Given the description of an element on the screen output the (x, y) to click on. 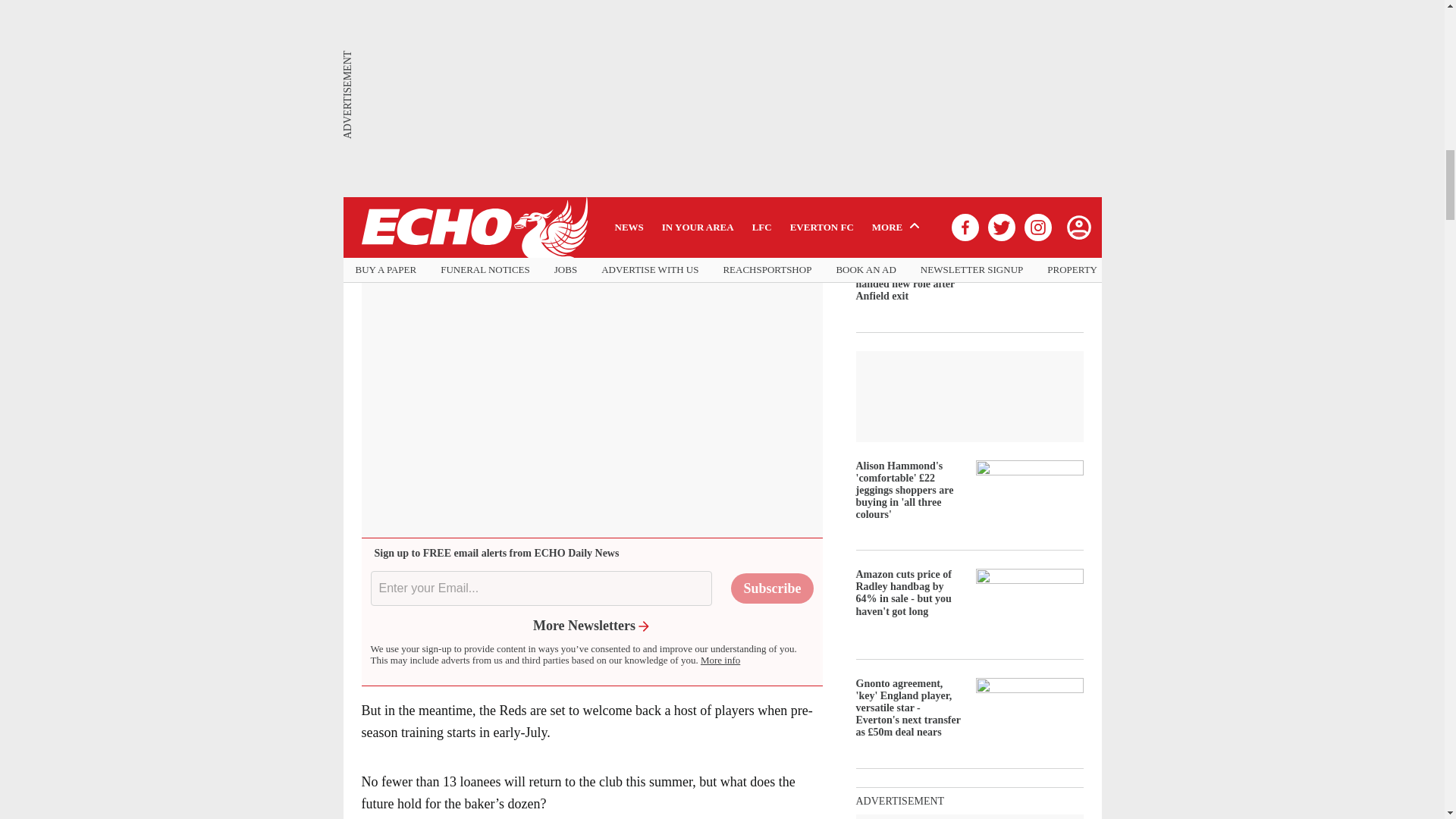
Subscribe (771, 588)
More Newsletters (591, 625)
More info (719, 659)
